Given the description of an element on the screen output the (x, y) to click on. 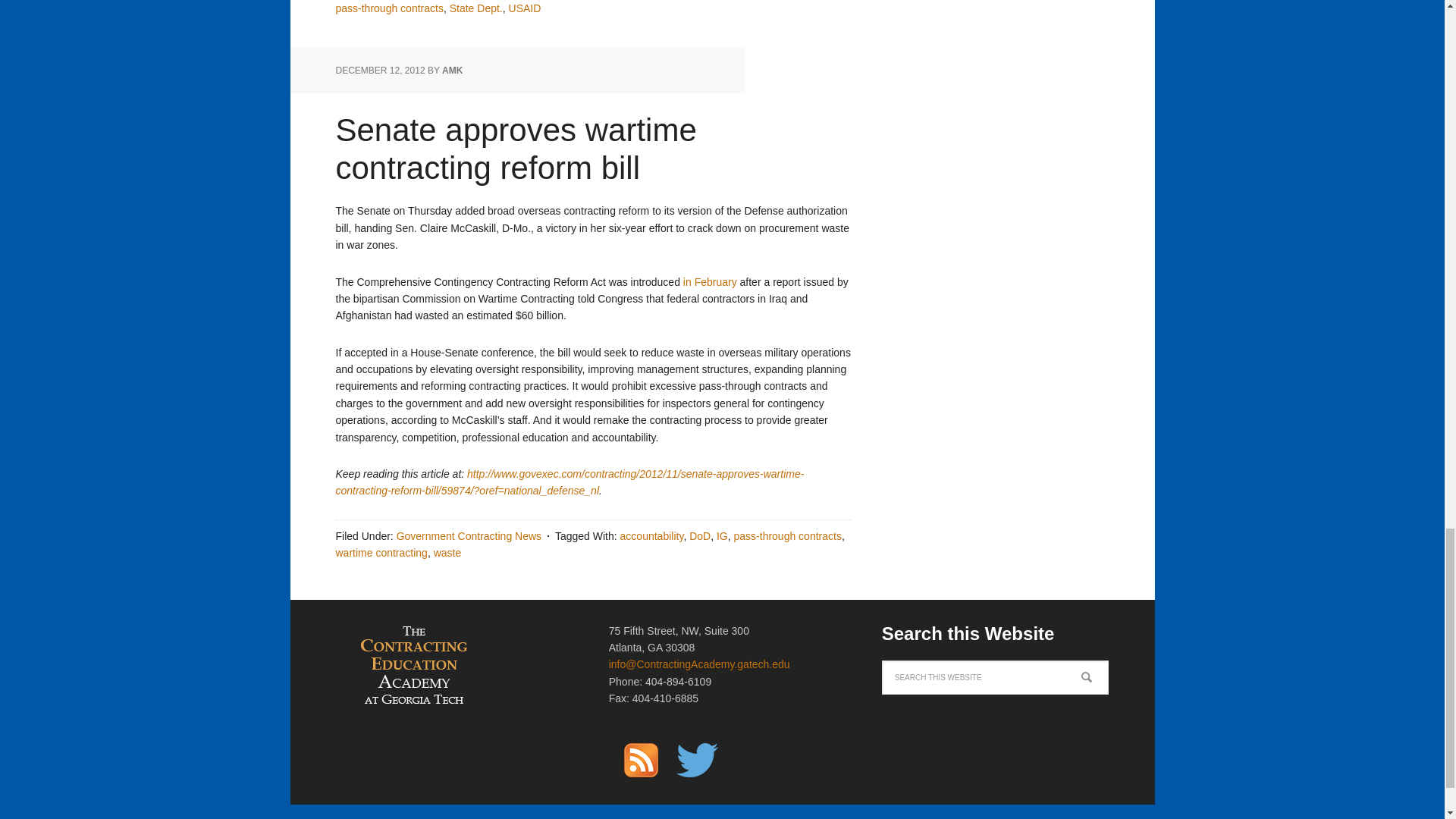
Senate approves wartime contracting reform bill (514, 148)
USAID (524, 8)
AMK (452, 70)
in February (709, 282)
pass-through contracts (388, 8)
State Dept. (475, 8)
